Given the description of an element on the screen output the (x, y) to click on. 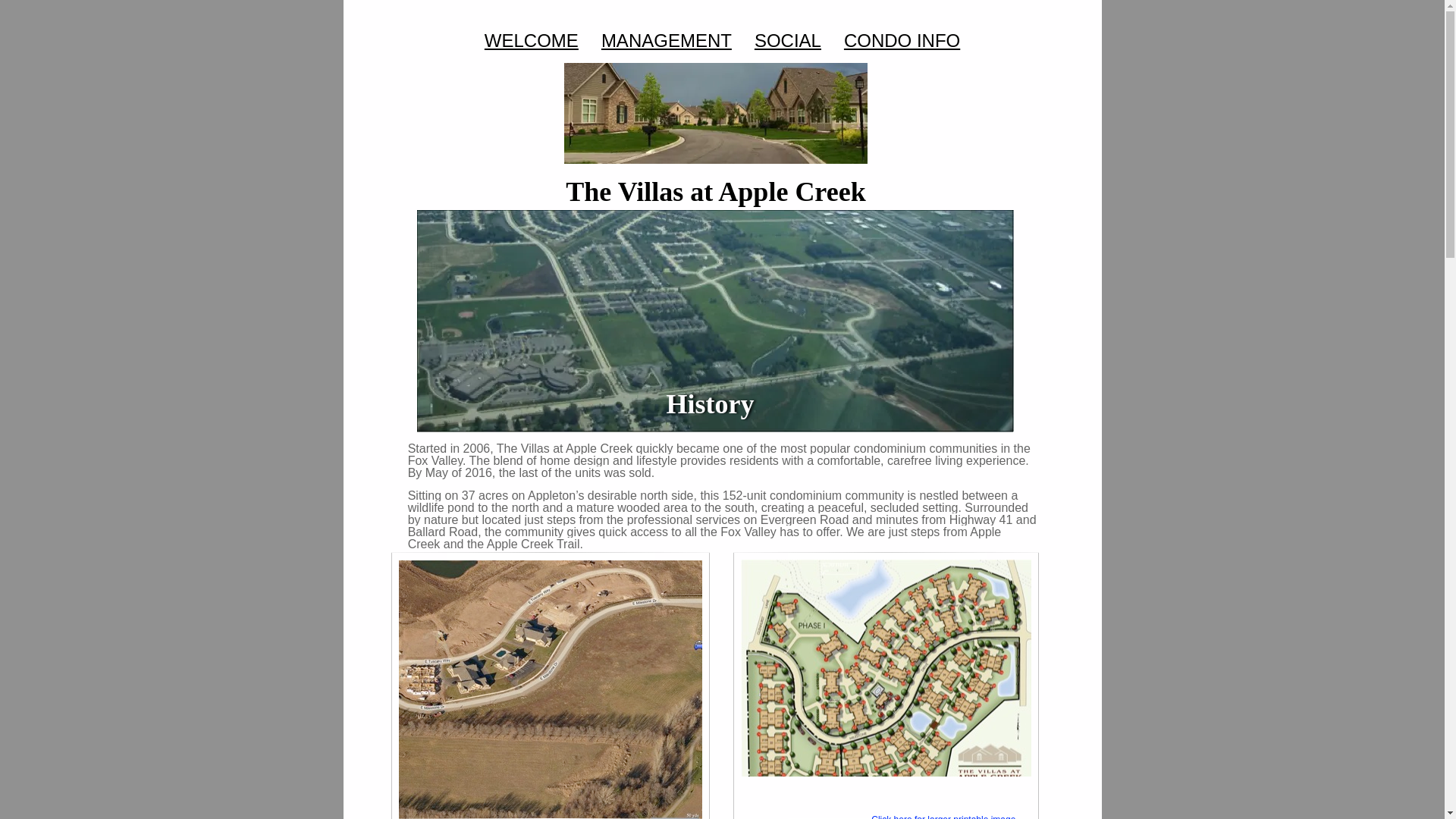
WELCOME (531, 40)
CONDO INFO (901, 40)
SOCIAL (787, 40)
MANAGEMENT (666, 40)
Click here for larger printable image. (943, 816)
